Given the description of an element on the screen output the (x, y) to click on. 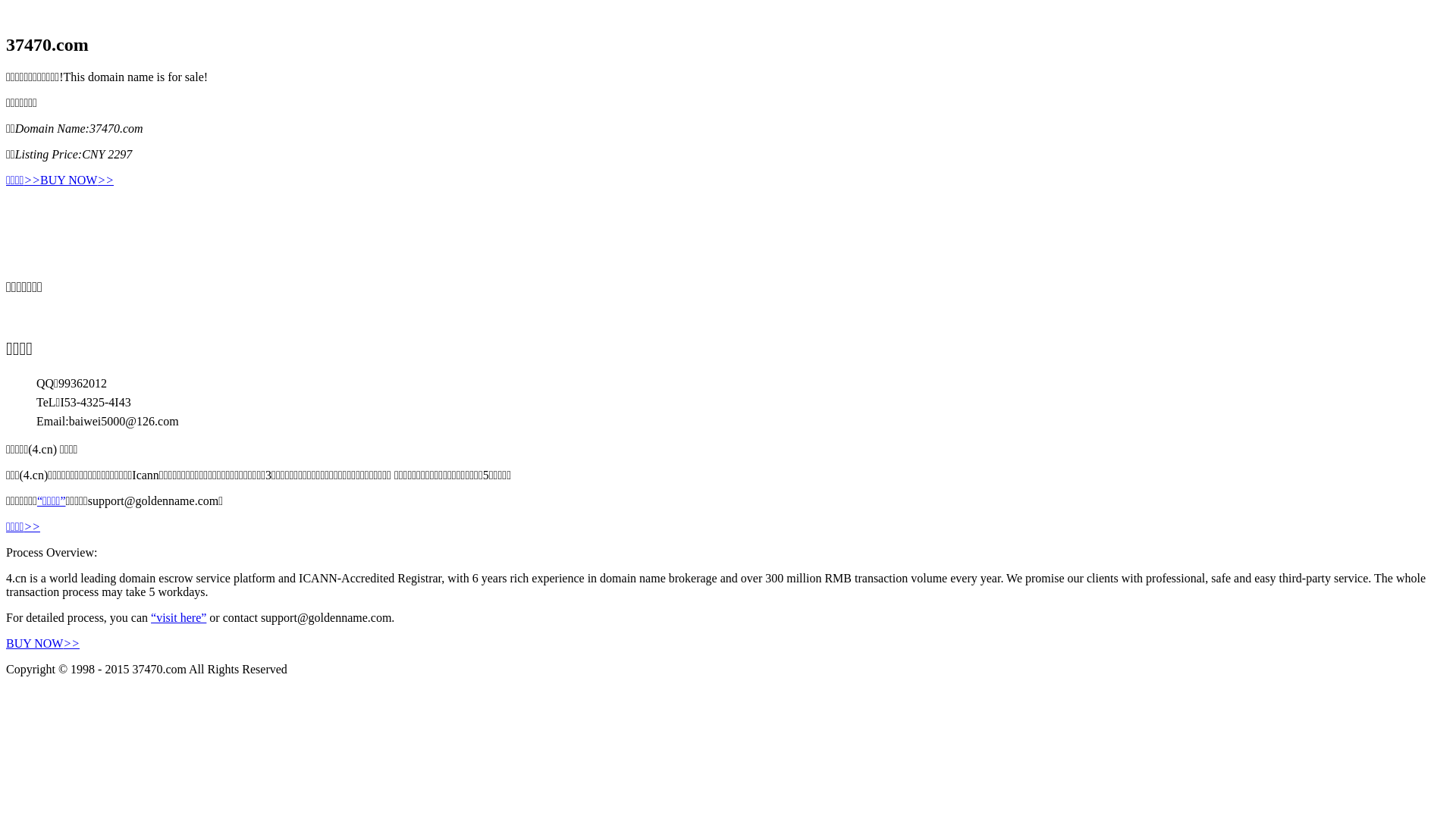
BUY NOW>> Element type: text (42, 643)
BUY NOW>> Element type: text (76, 180)
